Given the description of an element on the screen output the (x, y) to click on. 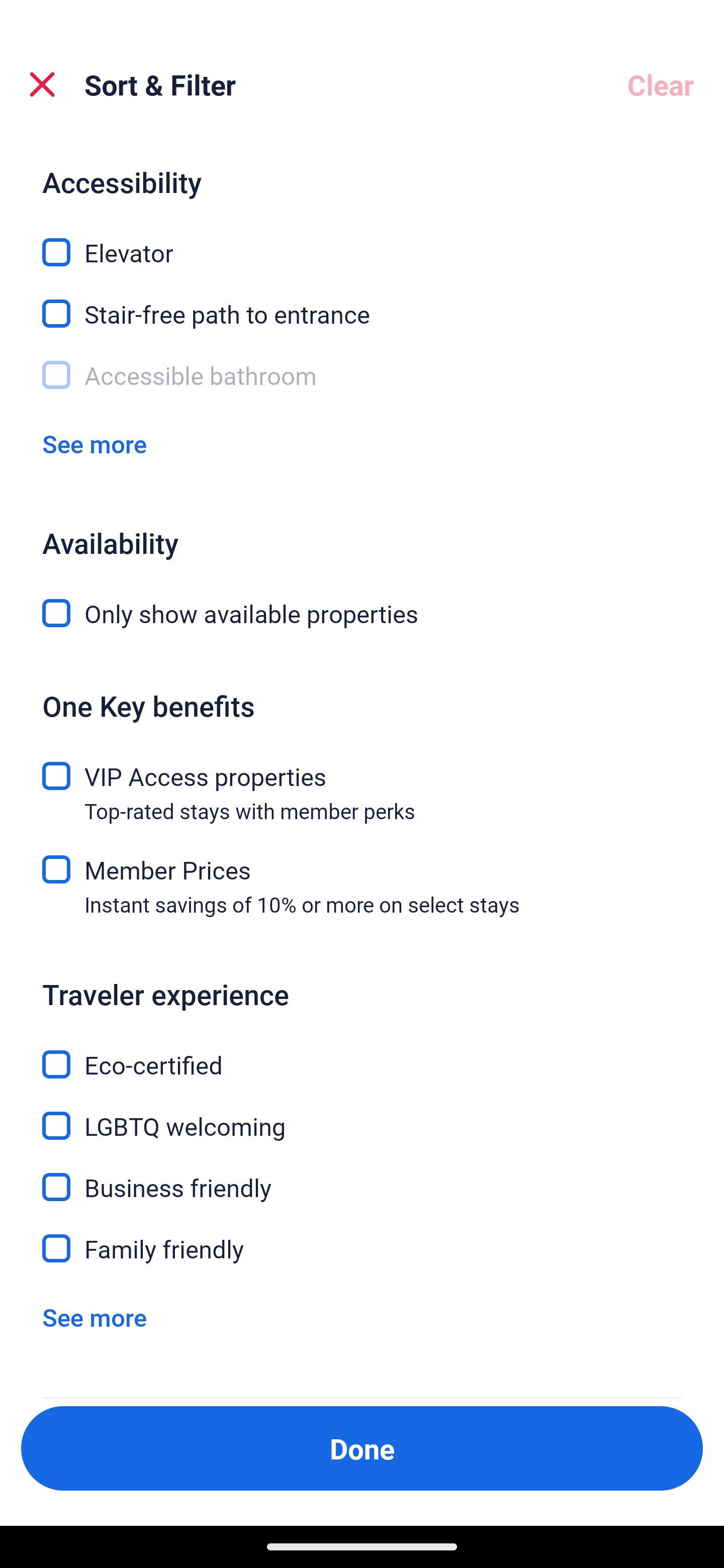
Close Sort and Filter (42, 84)
Clear (660, 84)
Elevator, Elevator (361, 240)
Accessible bathroom, Accessible bathroom (361, 374)
See more See more accessibility options Link (93, 443)
Eco-certified, Eco-certified (361, 1052)
LGBTQ welcoming, LGBTQ welcoming (361, 1113)
Business friendly, Business friendly (361, 1175)
Family friendly, Family friendly (361, 1248)
See more See more traveler experience options Link (93, 1316)
Apply and close Sort and Filter Done (361, 1448)
